Given the description of an element on the screen output the (x, y) to click on. 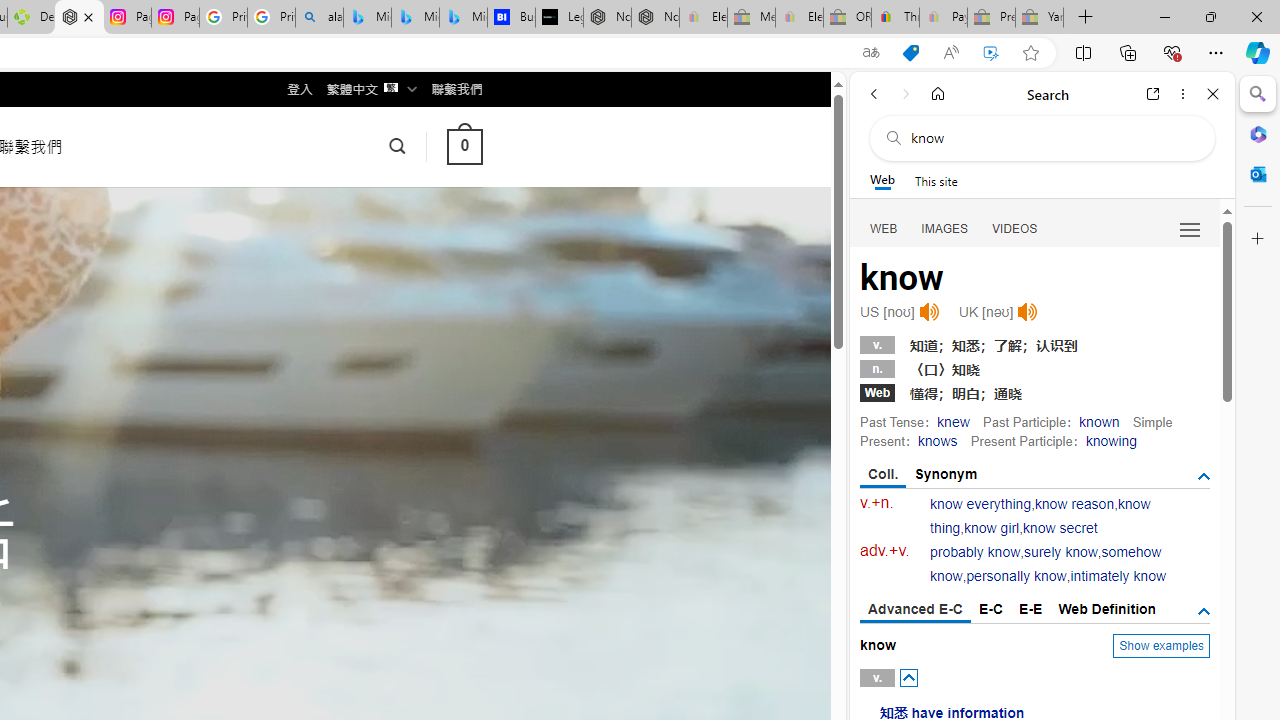
Synonym (945, 473)
Search Filter, WEB (884, 228)
alabama high school quarterback dies - Search (319, 17)
Class: b_serphb (1190, 229)
personally know (1016, 575)
Microsoft Bing Travel - Shangri-La Hotel Bangkok (463, 17)
known (1099, 421)
